Given the description of an element on the screen output the (x, y) to click on. 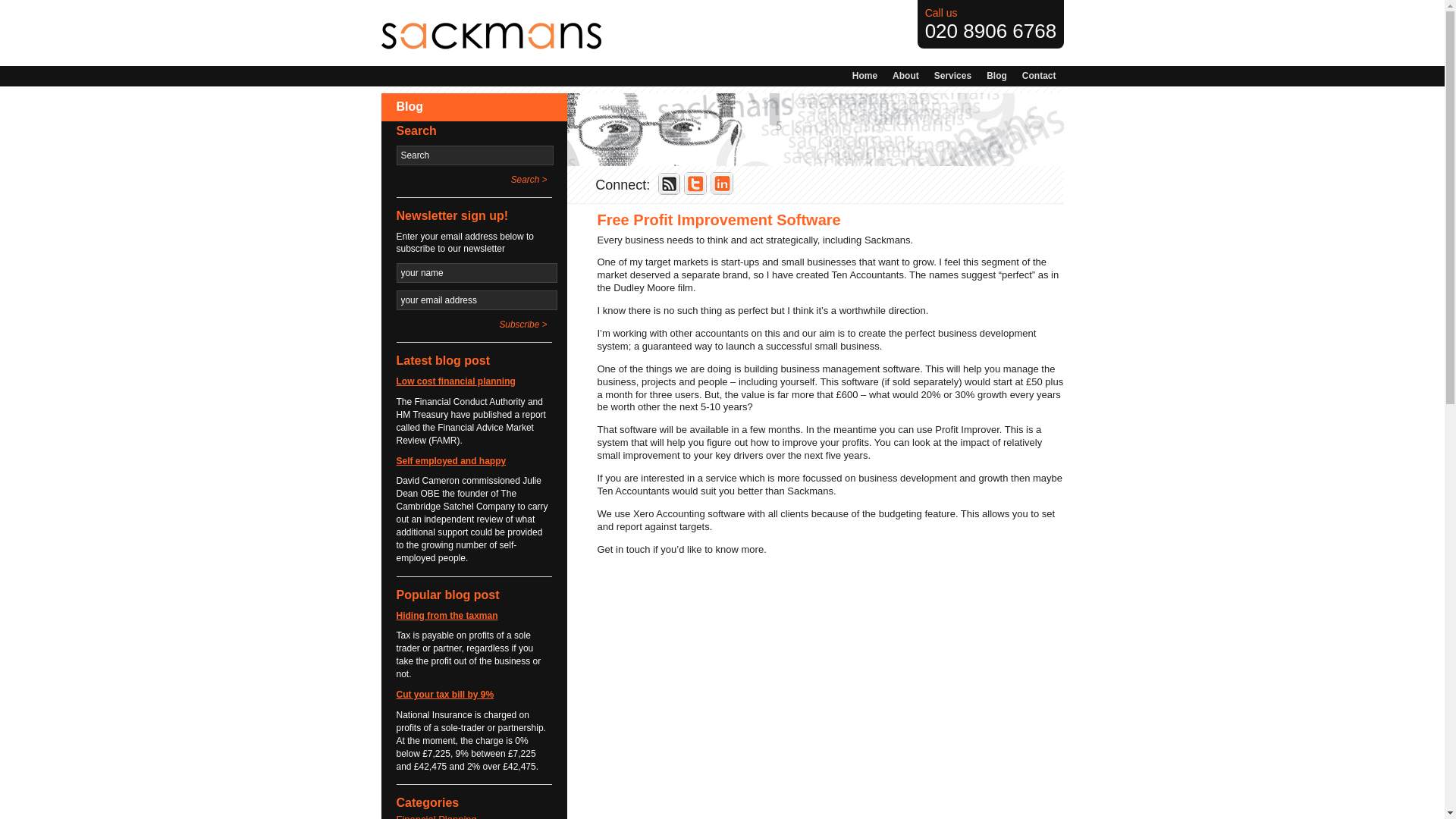
your email address (476, 300)
Financial Planning (436, 814)
Low cost financial planning (455, 380)
Self employed and happy (450, 460)
your name (476, 272)
Search (474, 155)
Hiding from the taxman (446, 615)
